Given the description of an element on the screen output the (x, y) to click on. 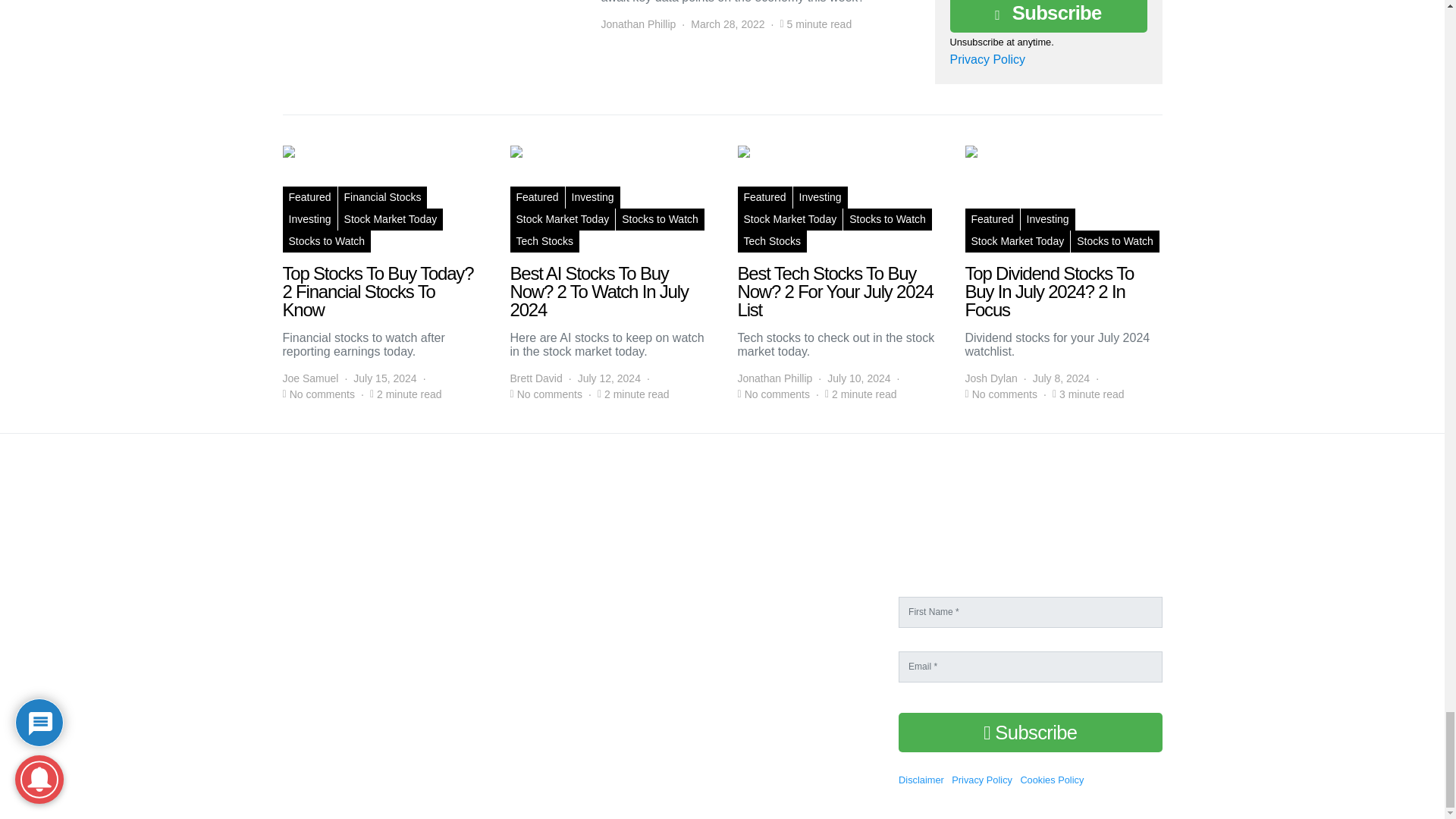
View all posts by Jonathan Phillip (637, 24)
View all posts by Joe Samuel (309, 378)
